Given the description of an element on the screen output the (x, y) to click on. 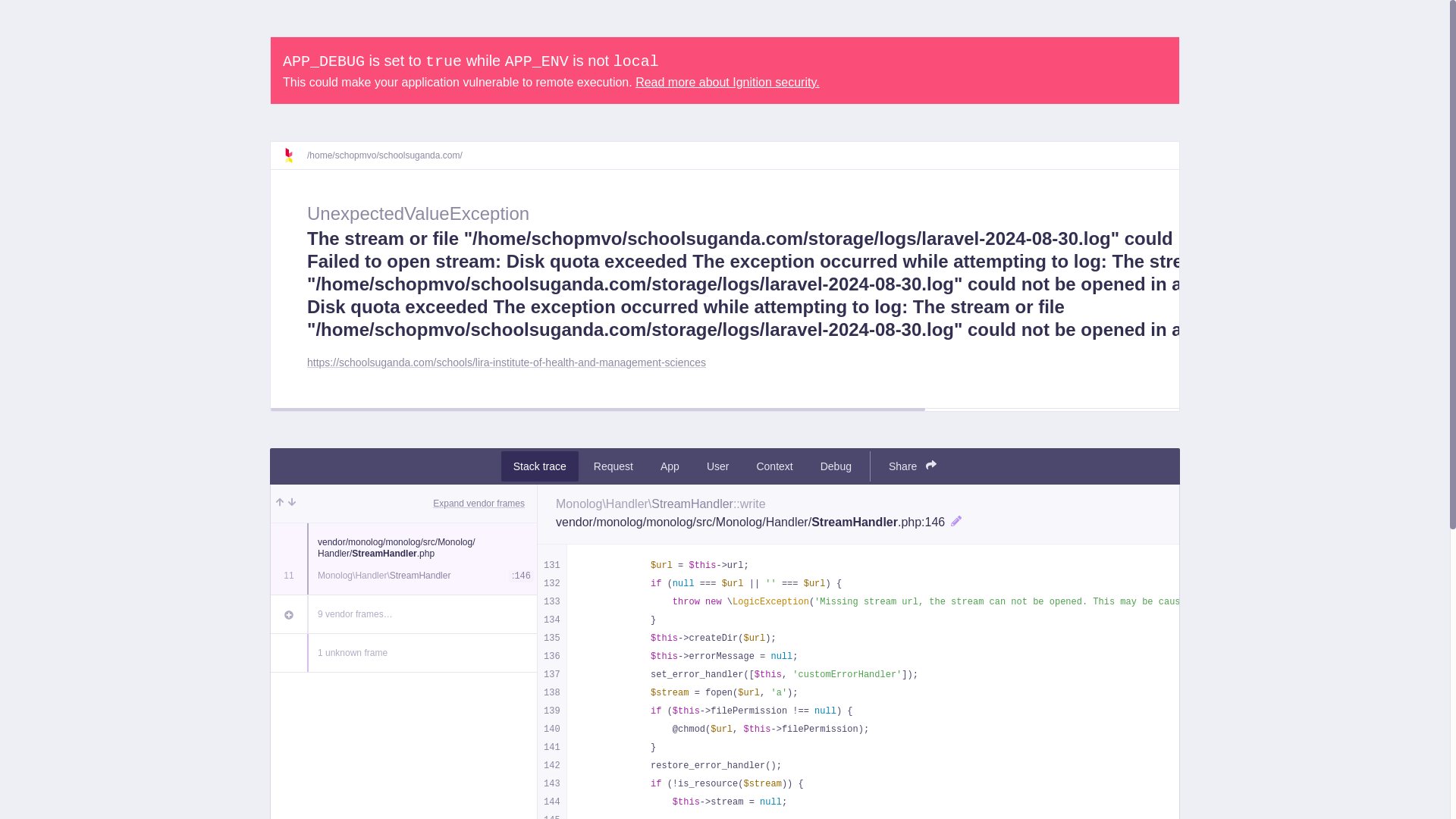
Stack trace (539, 466)
Expand vendor frames (478, 503)
Debug (835, 466)
Ignition docs (294, 155)
Share (912, 466)
Context (774, 466)
Read more about Ignition security. (726, 82)
Request (612, 466)
User (717, 466)
App (669, 466)
